Given the description of an element on the screen output the (x, y) to click on. 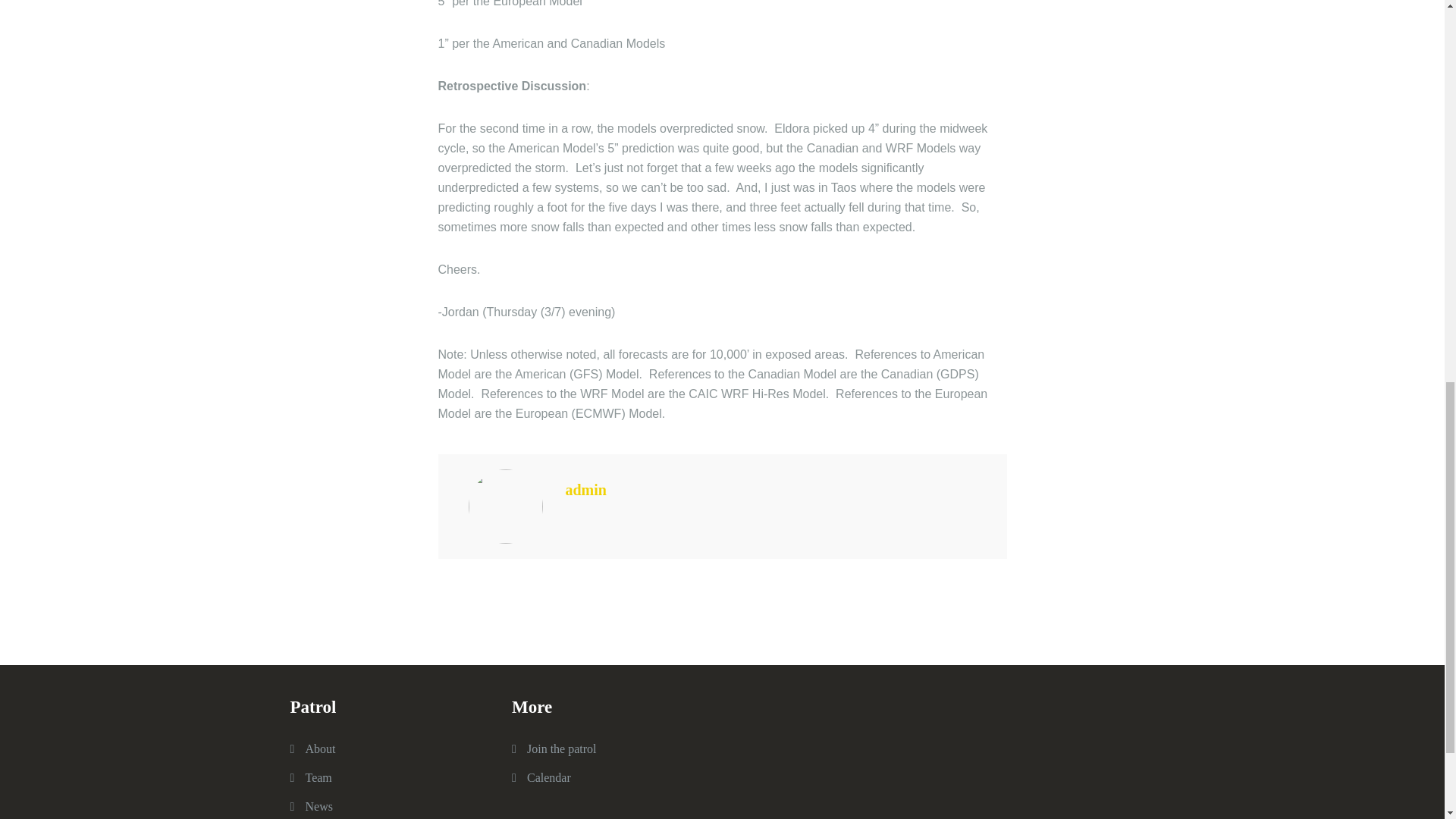
Our work (319, 748)
Club (317, 777)
News (317, 806)
Join (561, 748)
Terms (548, 777)
